Given the description of an element on the screen output the (x, y) to click on. 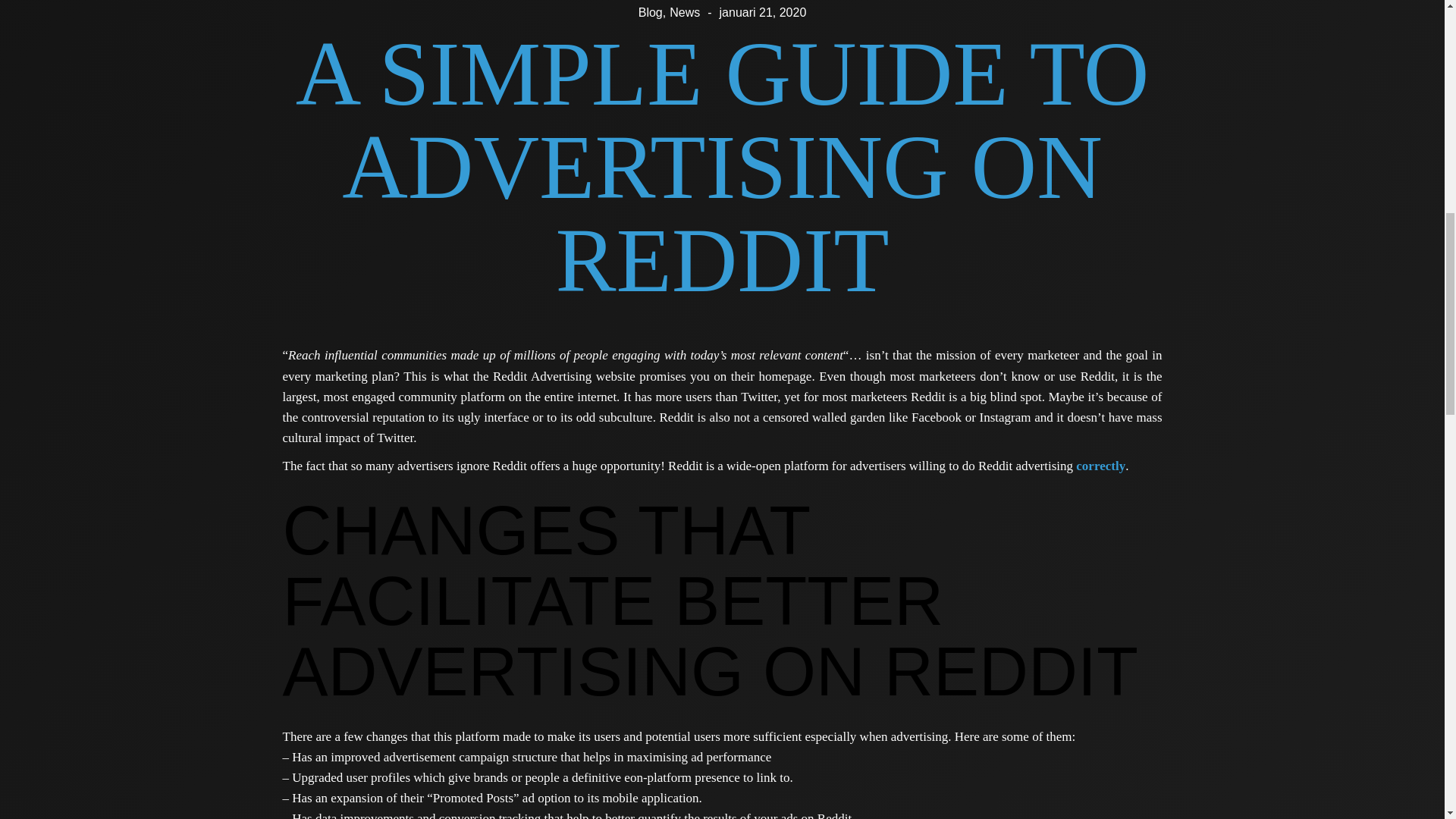
januari 21, 2020 (762, 12)
Blog (650, 12)
News (684, 12)
